Given the description of an element on the screen output the (x, y) to click on. 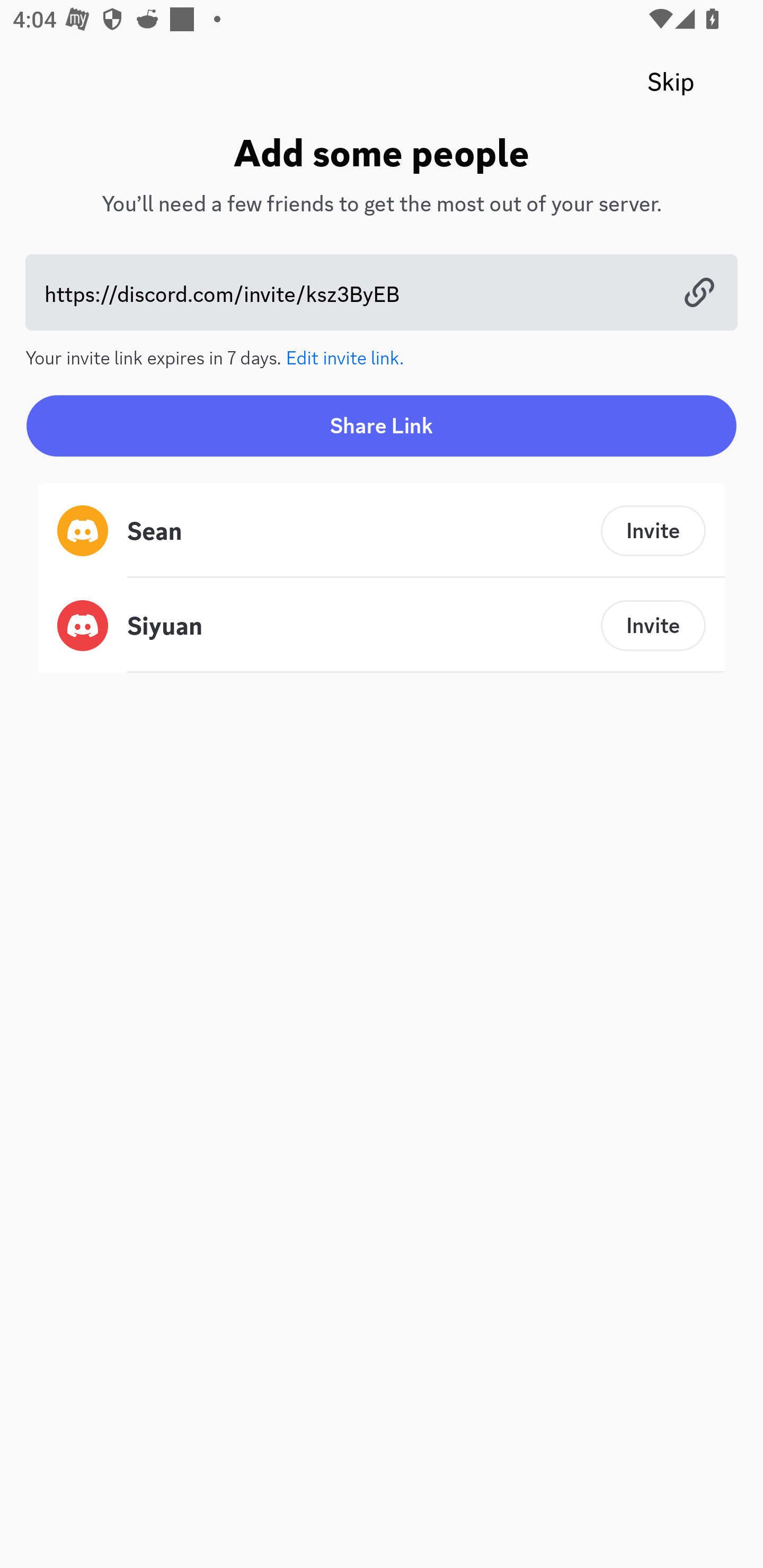
Skip (670, 82)
Search (373, 165)
Copy Link https://discord.com/invite/ksz3ByEB (381, 292)
Edit invite link. (345, 355)
Share Link (381, 425)
Sean Sean Invite Invite (381, 530)
Invite (653, 530)
Siyuan Siyuan Invite Invite (381, 625)
Invite (653, 625)
